Given the description of an element on the screen output the (x, y) to click on. 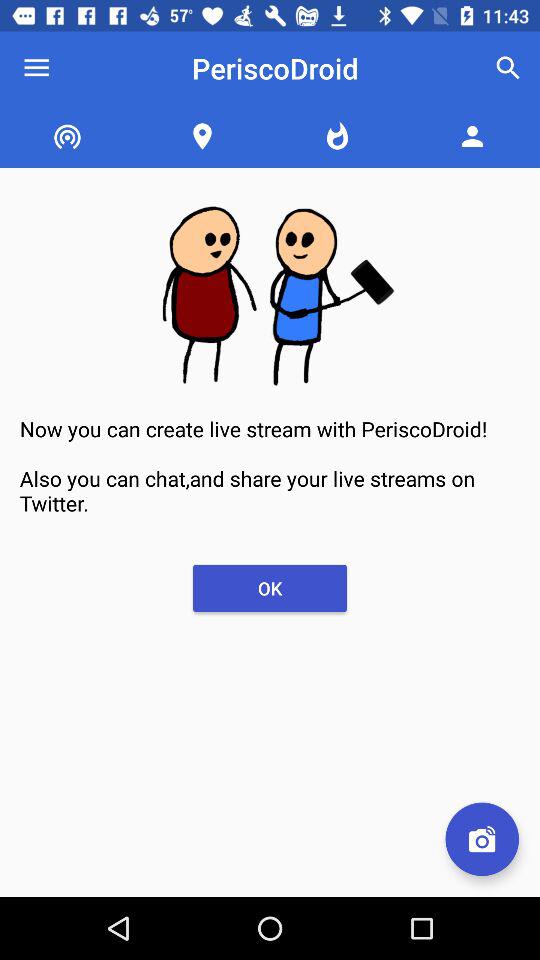
click the icon below now you can (482, 839)
